Given the description of an element on the screen output the (x, y) to click on. 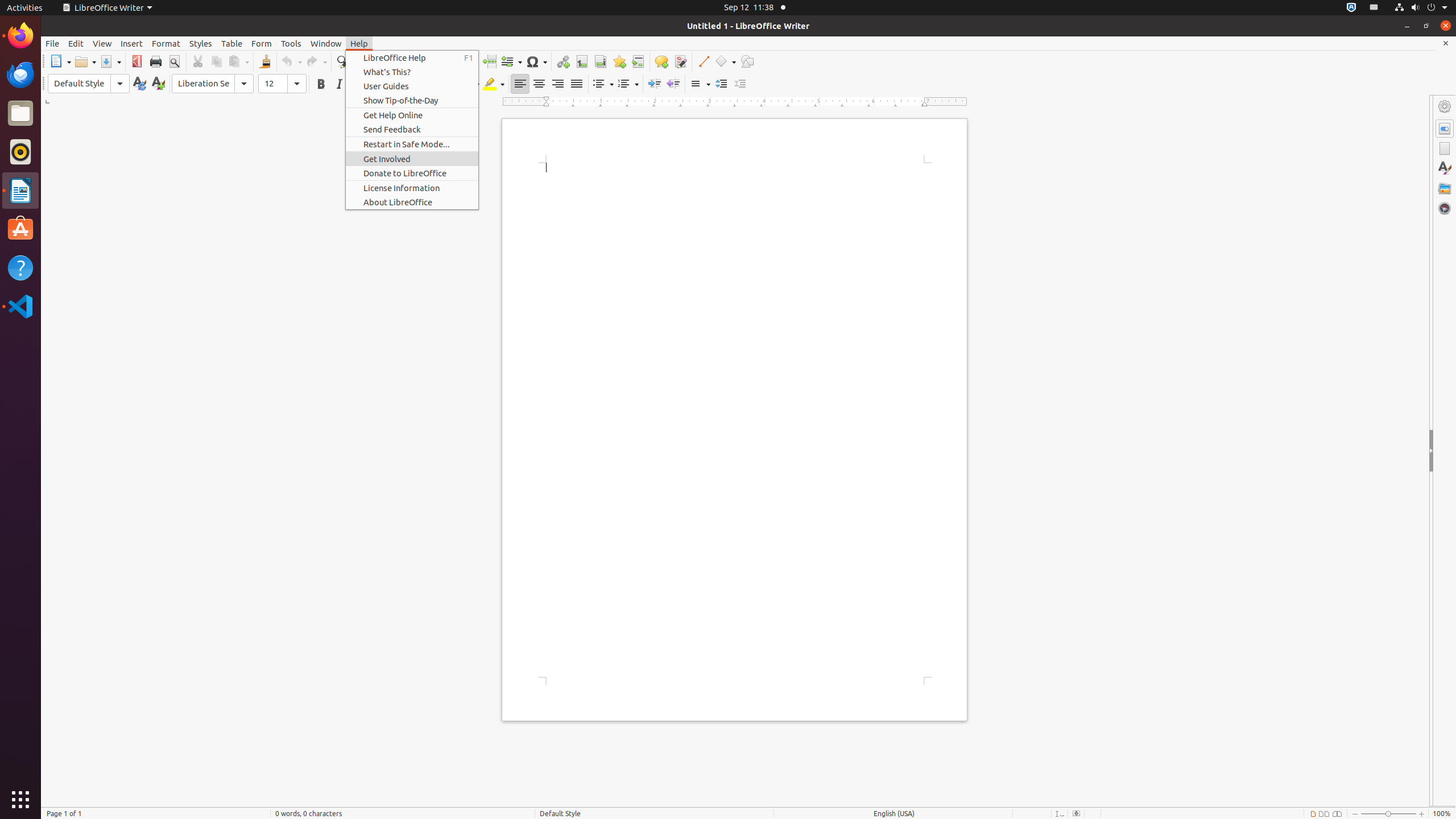
Tools Element type: menu (290, 43)
Files Element type: push-button (20, 113)
Track Changes Functions Element type: toggle-button (679, 61)
Redo Element type: push-button (315, 61)
New Element type: push-button (157, 83)
